Given the description of an element on the screen output the (x, y) to click on. 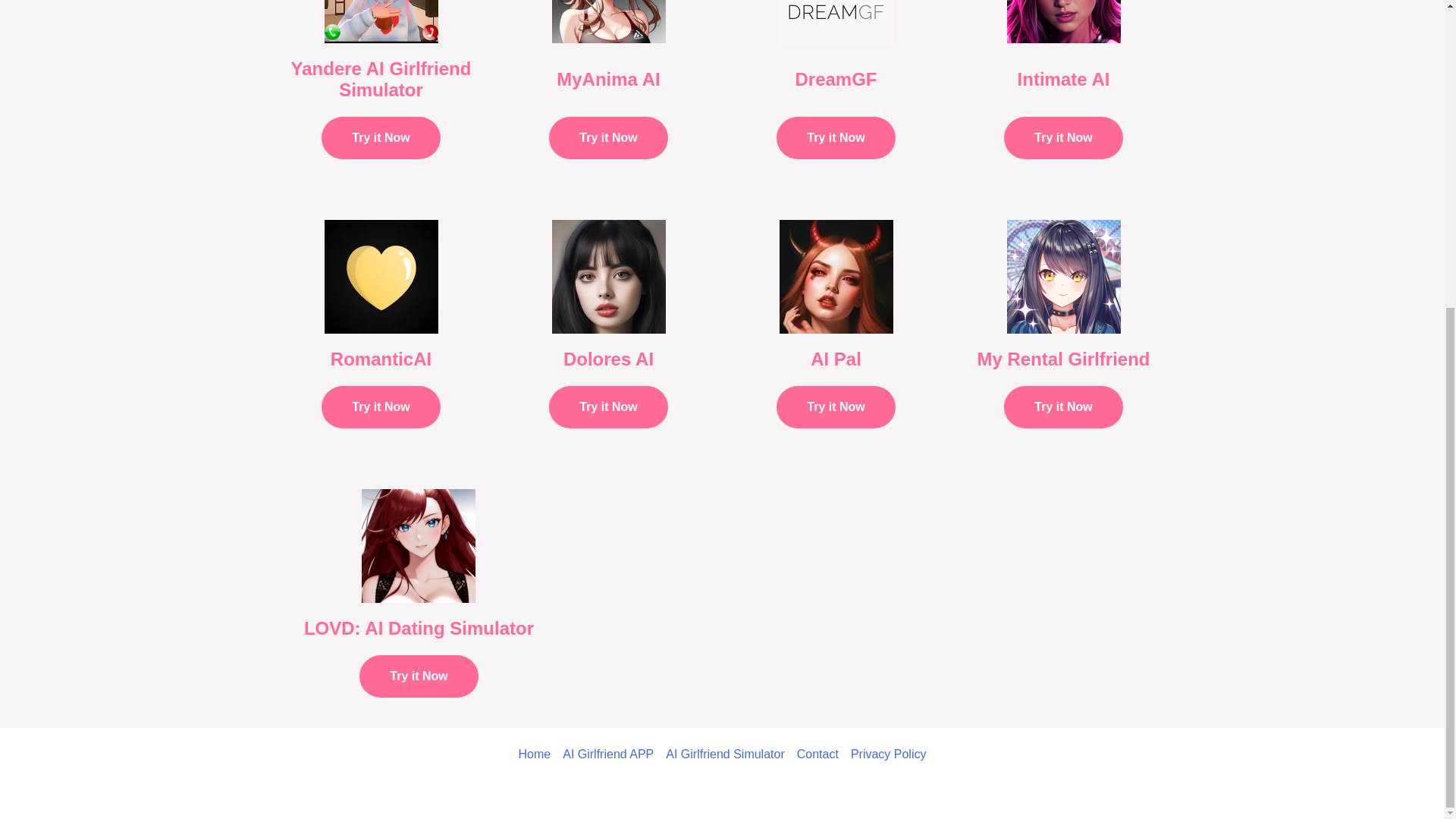
Try it Now (380, 406)
AI Girlfriend APP (607, 753)
Try it Now (835, 406)
Try it Now (607, 406)
Try it Now (607, 137)
Try it Now (418, 676)
Try it Now (1063, 137)
AI Girlfriend Simulator (724, 753)
Try it Now (835, 137)
Try it Now (1063, 406)
Contact (817, 753)
Try it Now (380, 137)
Home (537, 753)
Privacy Policy (885, 753)
